Given the description of an element on the screen output the (x, y) to click on. 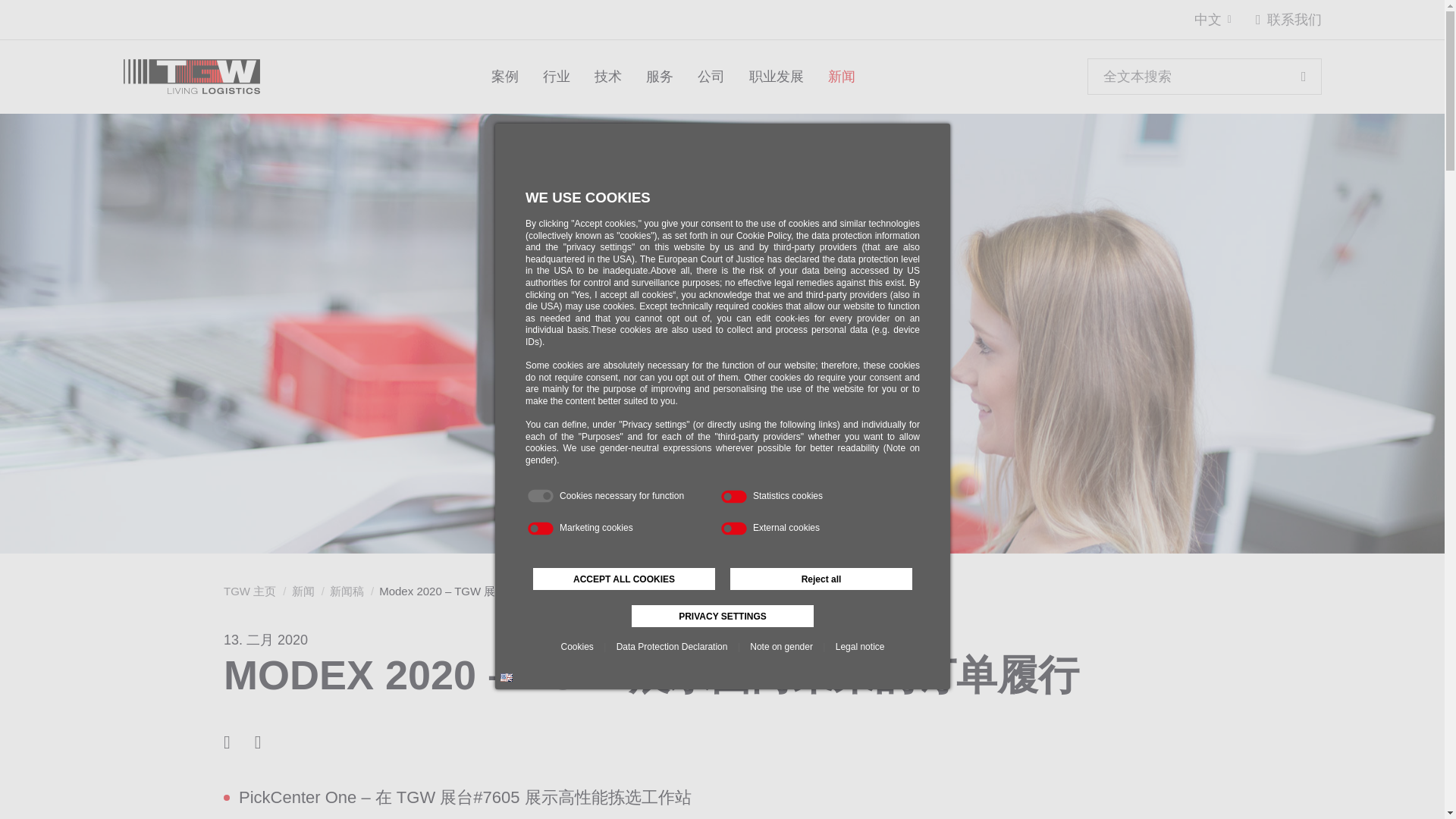
PRIVACY SETTINGS (721, 616)
Cookies (576, 646)
ACCEPT ALL COOKIES (623, 578)
Legal notice (859, 646)
Language: en (506, 677)
Note on gender (781, 646)
Purpose (721, 513)
Reject all (820, 578)
Data Protection Declaration (671, 646)
Language: en (506, 677)
